Given the description of an element on the screen output the (x, y) to click on. 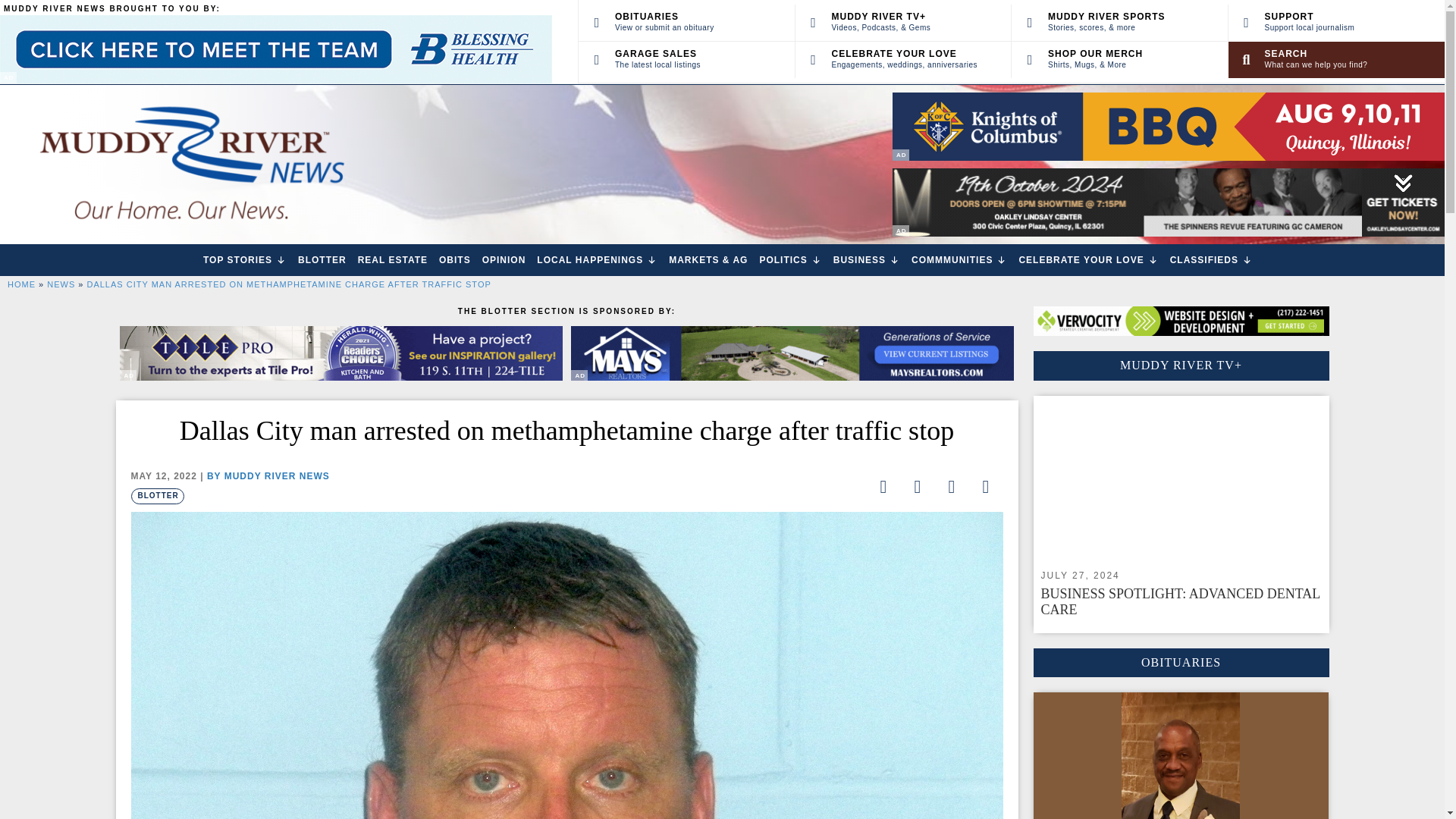
cropped-MRN-final-with-tag.png (189, 164)
